Given the description of an element on the screen output the (x, y) to click on. 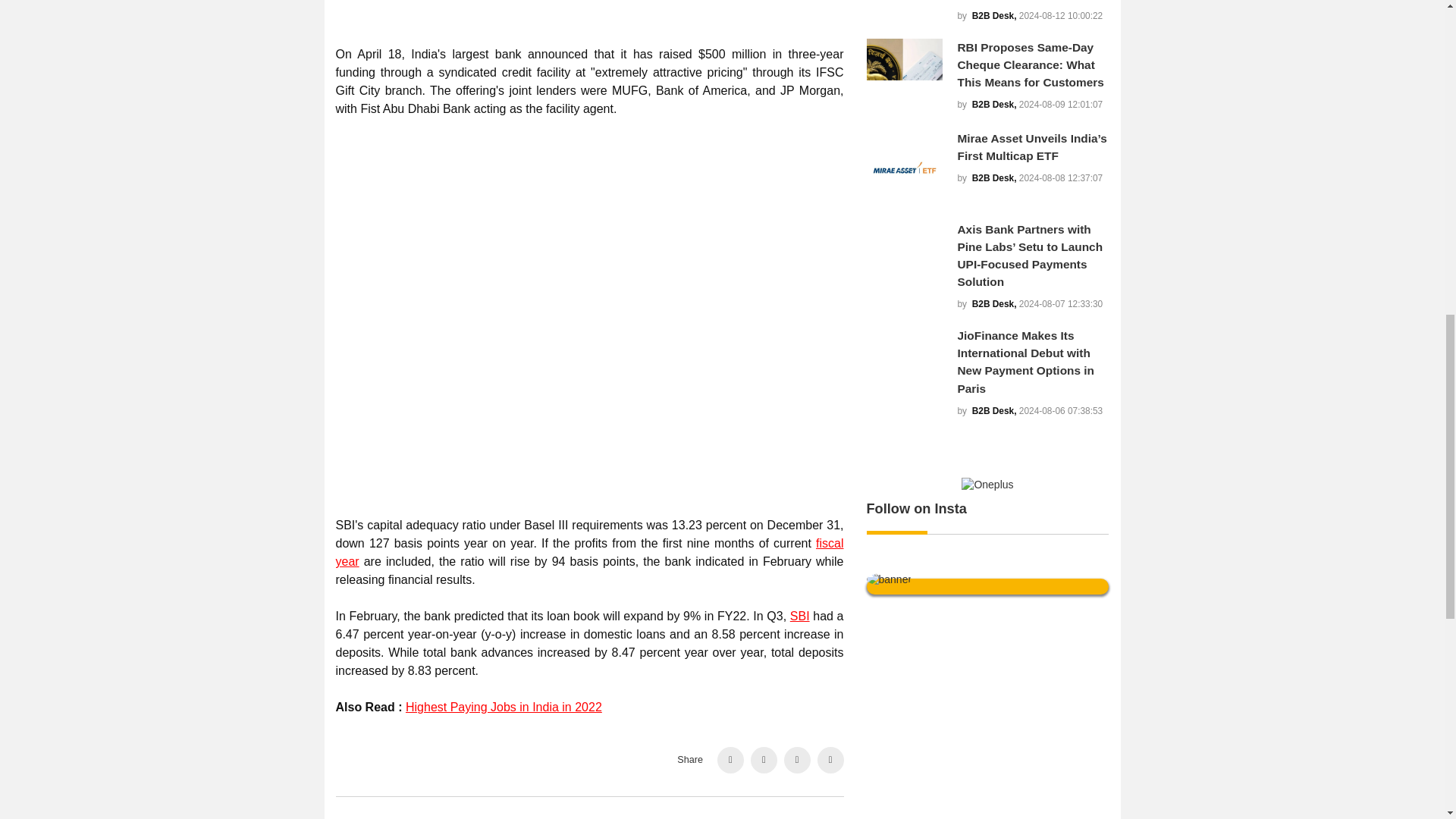
fiscal year (588, 552)
Highest Paying Jobs in India in 2022 (504, 707)
SBI (799, 615)
